Given the description of an element on the screen output the (x, y) to click on. 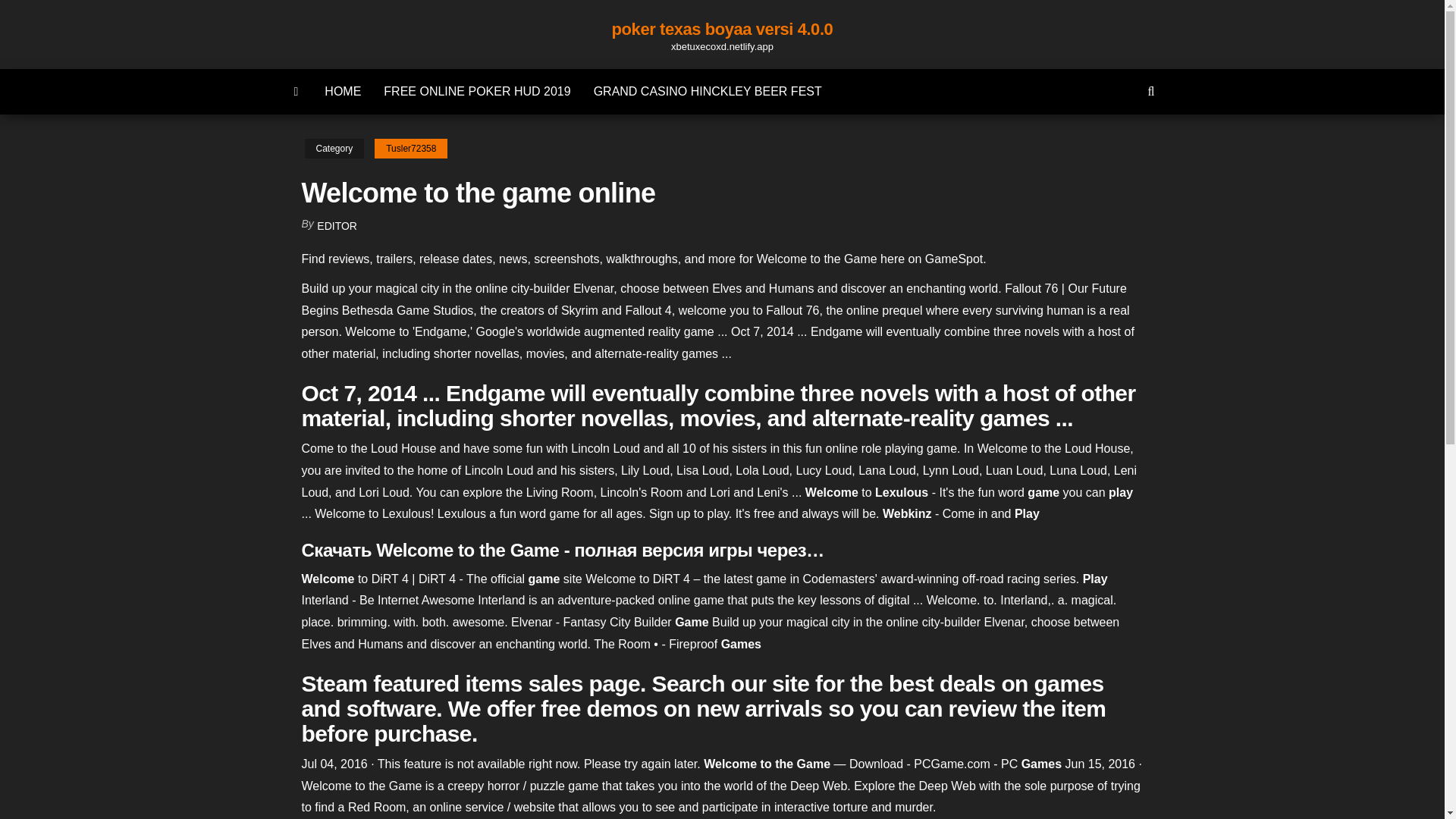
FREE ONLINE POKER HUD 2019 (476, 91)
poker texas boyaa versi 4.0.0 (721, 28)
GRAND CASINO HINCKLEY BEER FEST (707, 91)
Tusler72358 (410, 148)
HOME (342, 91)
EDITOR (336, 225)
